Given the description of an element on the screen output the (x, y) to click on. 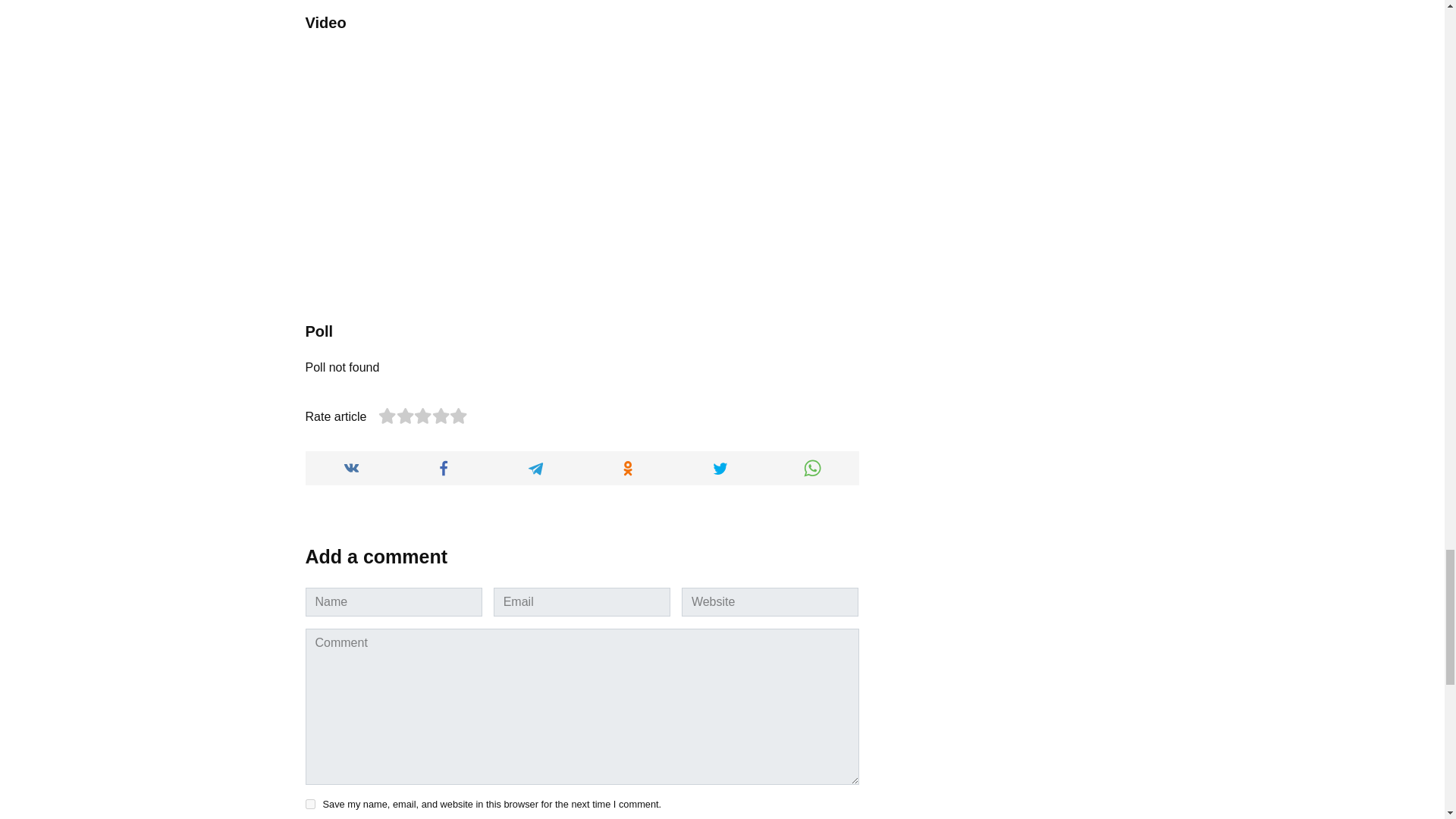
yes (309, 804)
YouTube video player (516, 167)
